Given the description of an element on the screen output the (x, y) to click on. 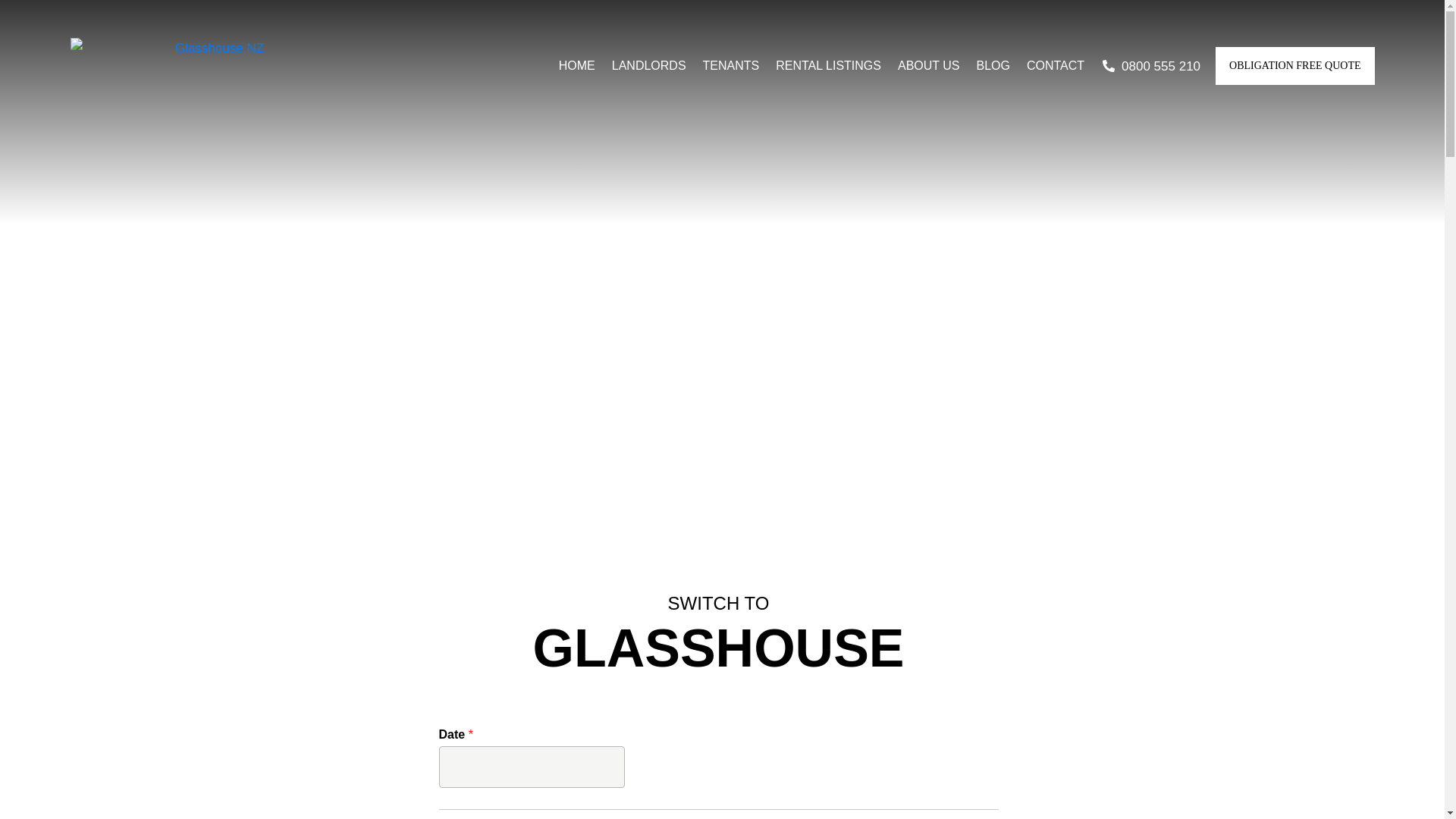
CONTACT (1055, 65)
TENANTS (731, 65)
RENTAL LISTINGS (828, 65)
LANDLORDS (648, 65)
ABOUT US (928, 65)
